Given the description of an element on the screen output the (x, y) to click on. 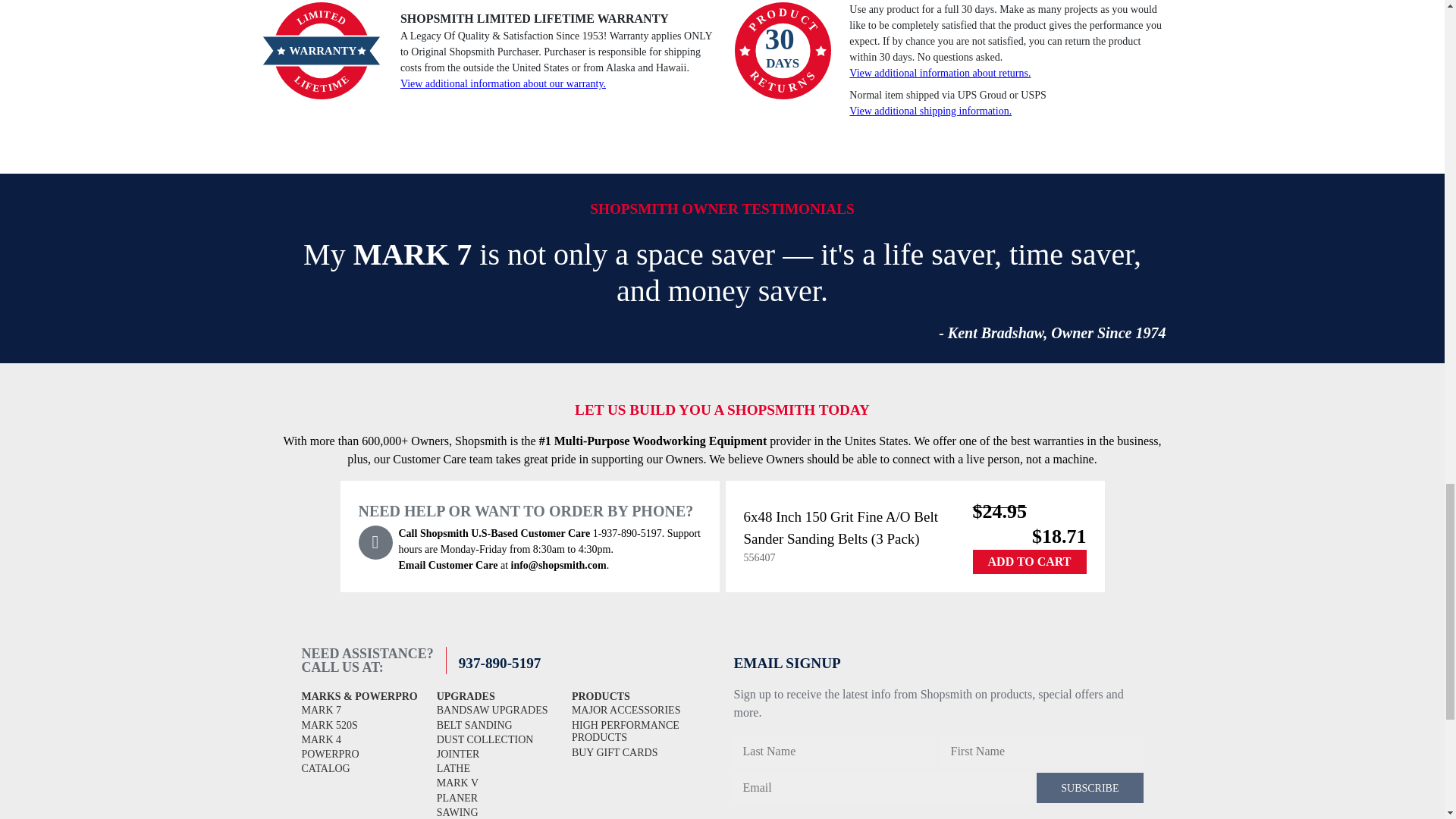
Subscribe (1089, 788)
